Given the description of an element on the screen output the (x, y) to click on. 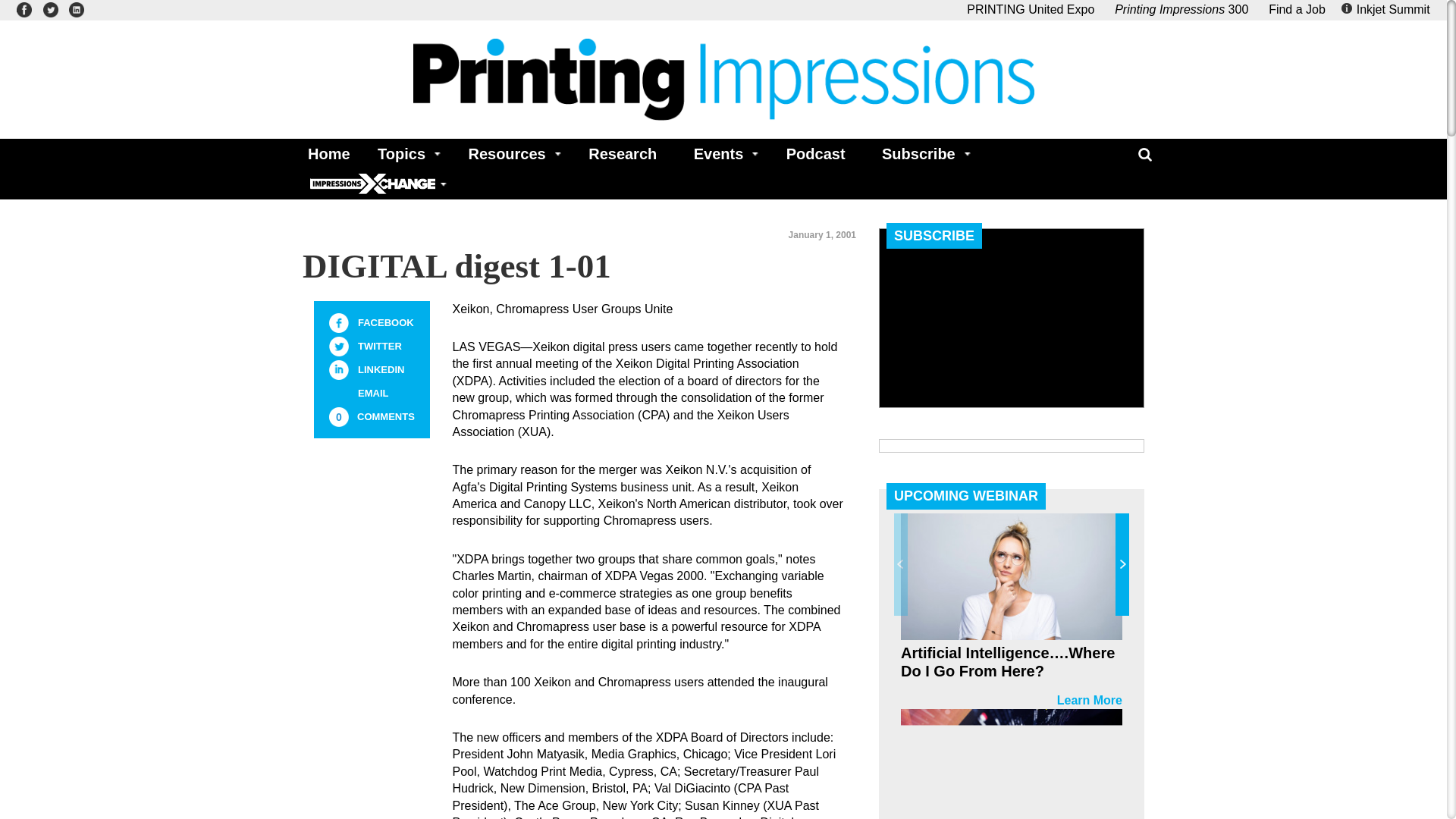
Resources (509, 153)
Email Link (339, 393)
PRINTING United Expo (1030, 9)
Twitter (339, 346)
Find a Job (1296, 9)
LinkedIn (339, 370)
Topics (404, 153)
Home (324, 153)
Printing Impressions 300 (1181, 9)
Inkjet Summit (1387, 9)
